Given the description of an element on the screen output the (x, y) to click on. 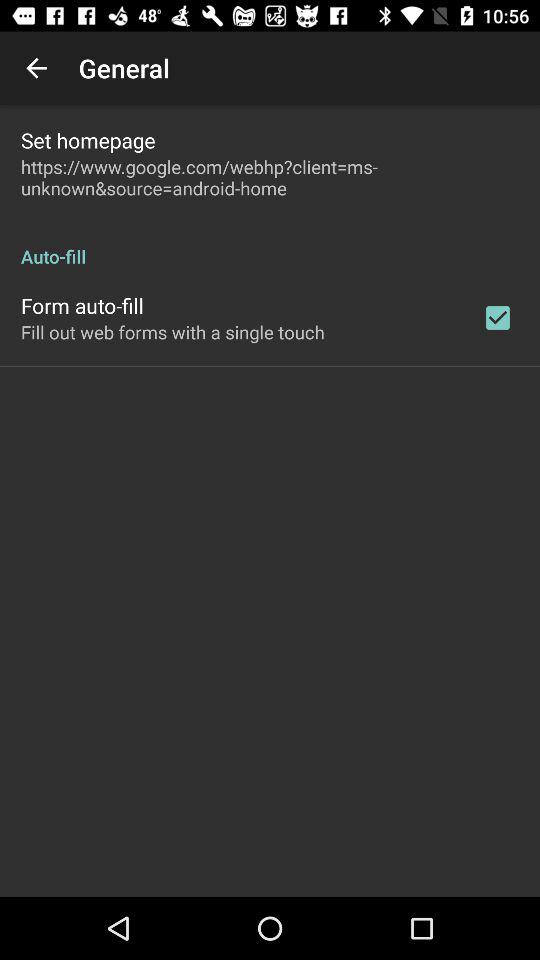
open item next to general (36, 68)
